Given the description of an element on the screen output the (x, y) to click on. 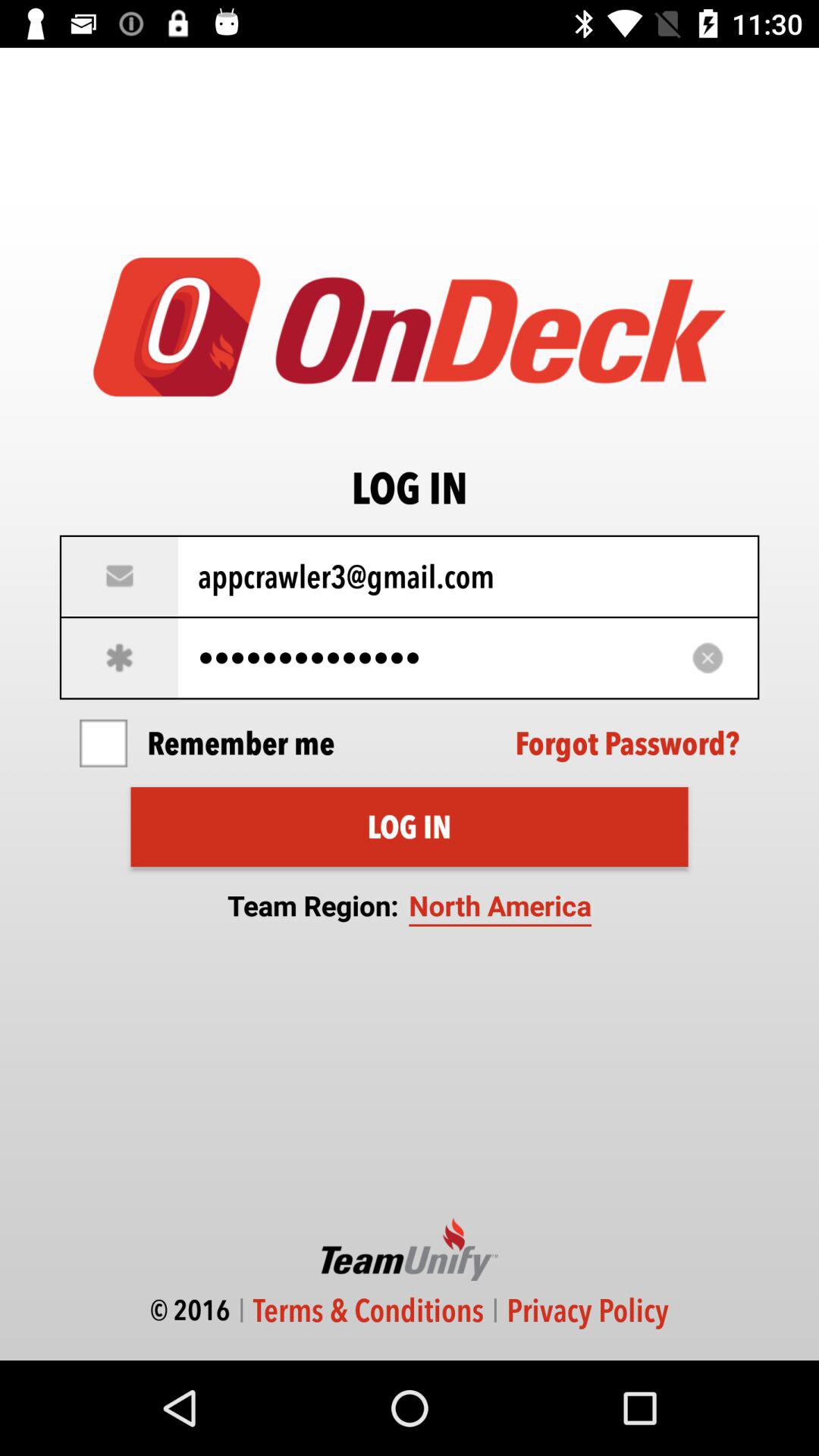
flip until forgot password? item (627, 743)
